Given the description of an element on the screen output the (x, y) to click on. 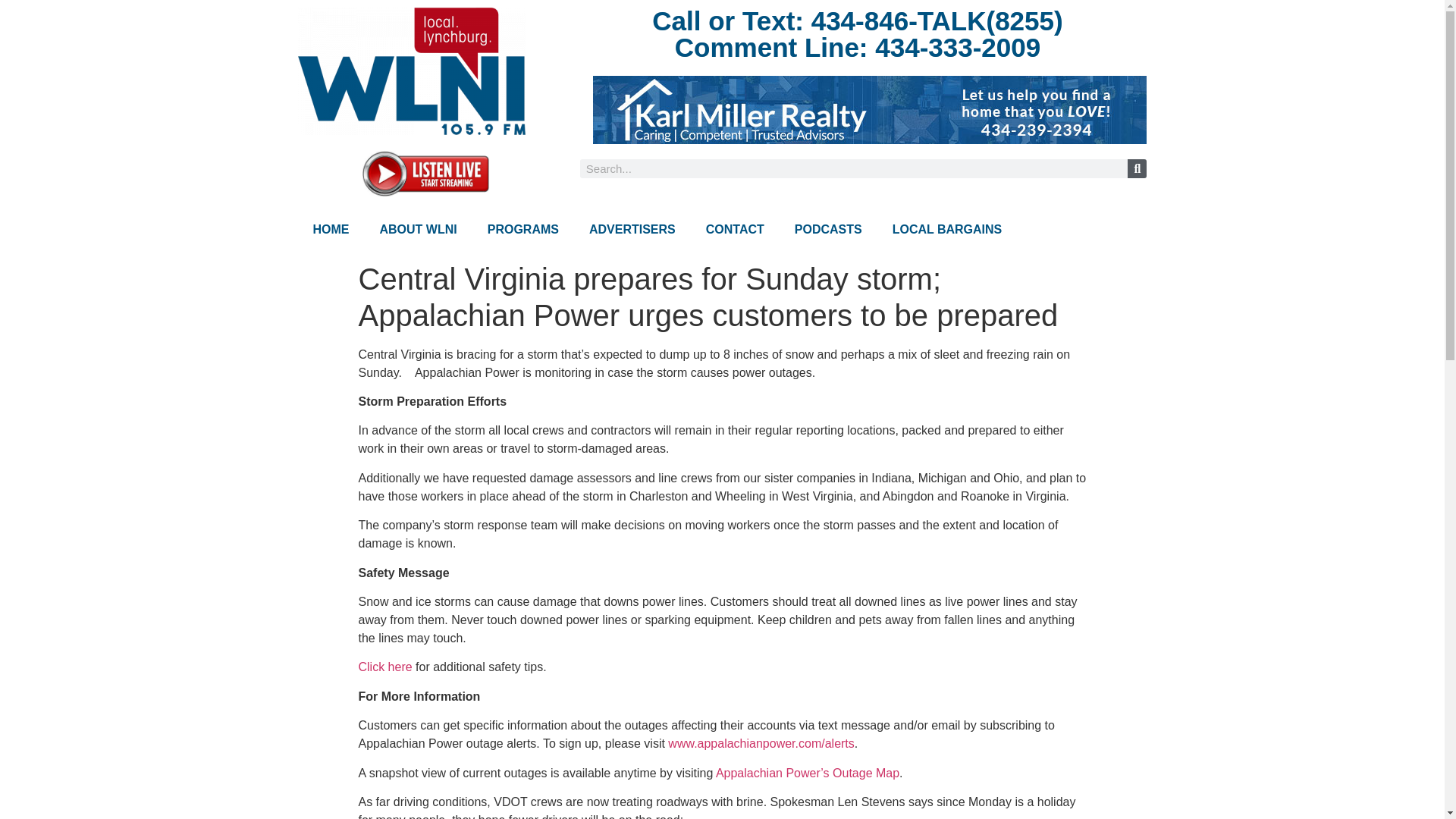
HOME (330, 229)
ABOUT WLNI (417, 229)
CONTACT (734, 229)
PROGRAMS (522, 229)
LOCAL BARGAINS (947, 229)
ADVERTISERS (631, 229)
PODCASTS (827, 229)
